Given the description of an element on the screen output the (x, y) to click on. 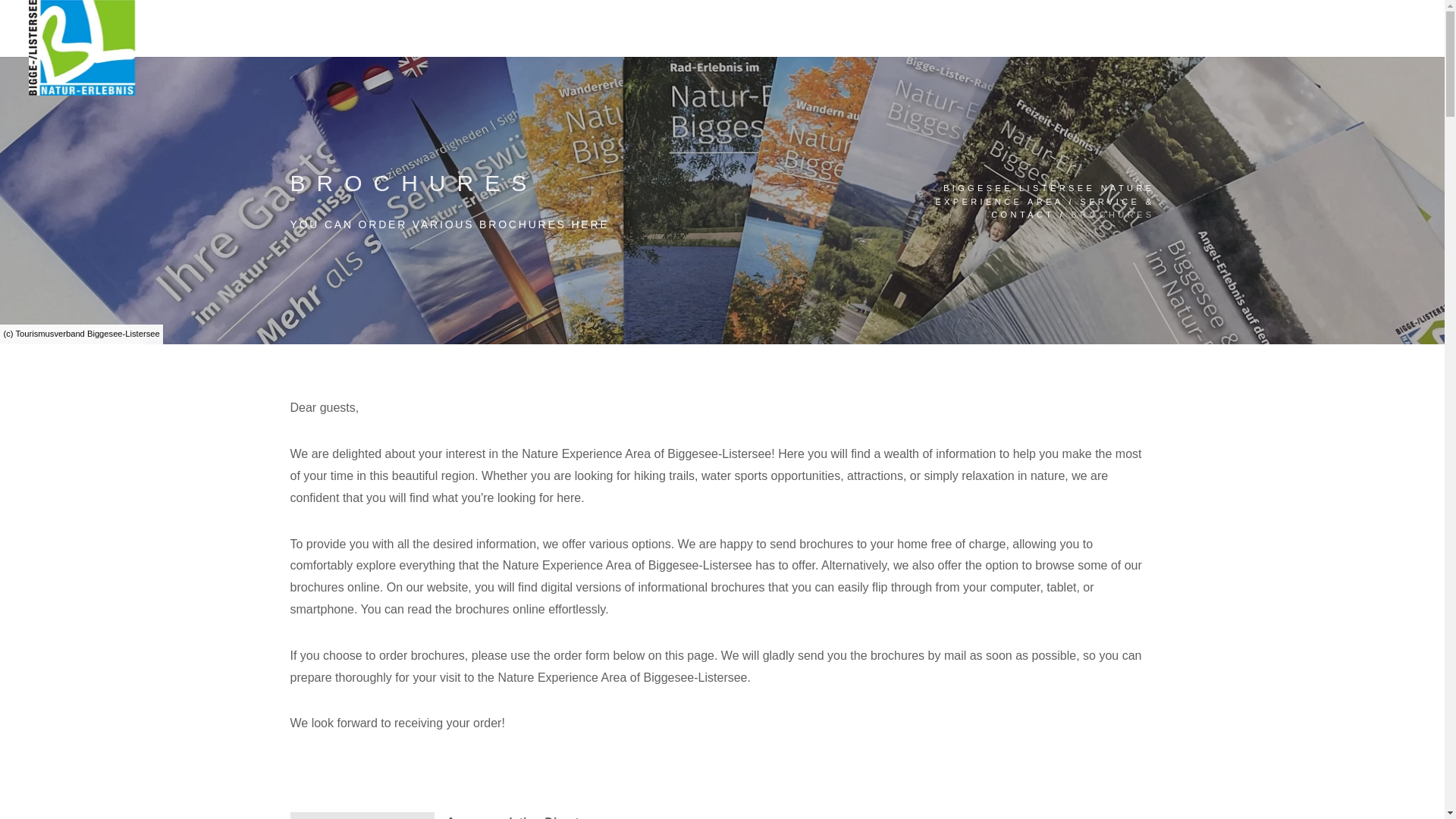
www.biggesee-listersee.com (82, 47)
BIGGESEE-LISTERSEE NATURE EXPERIENCE AREA (1044, 195)
